Given the description of an element on the screen output the (x, y) to click on. 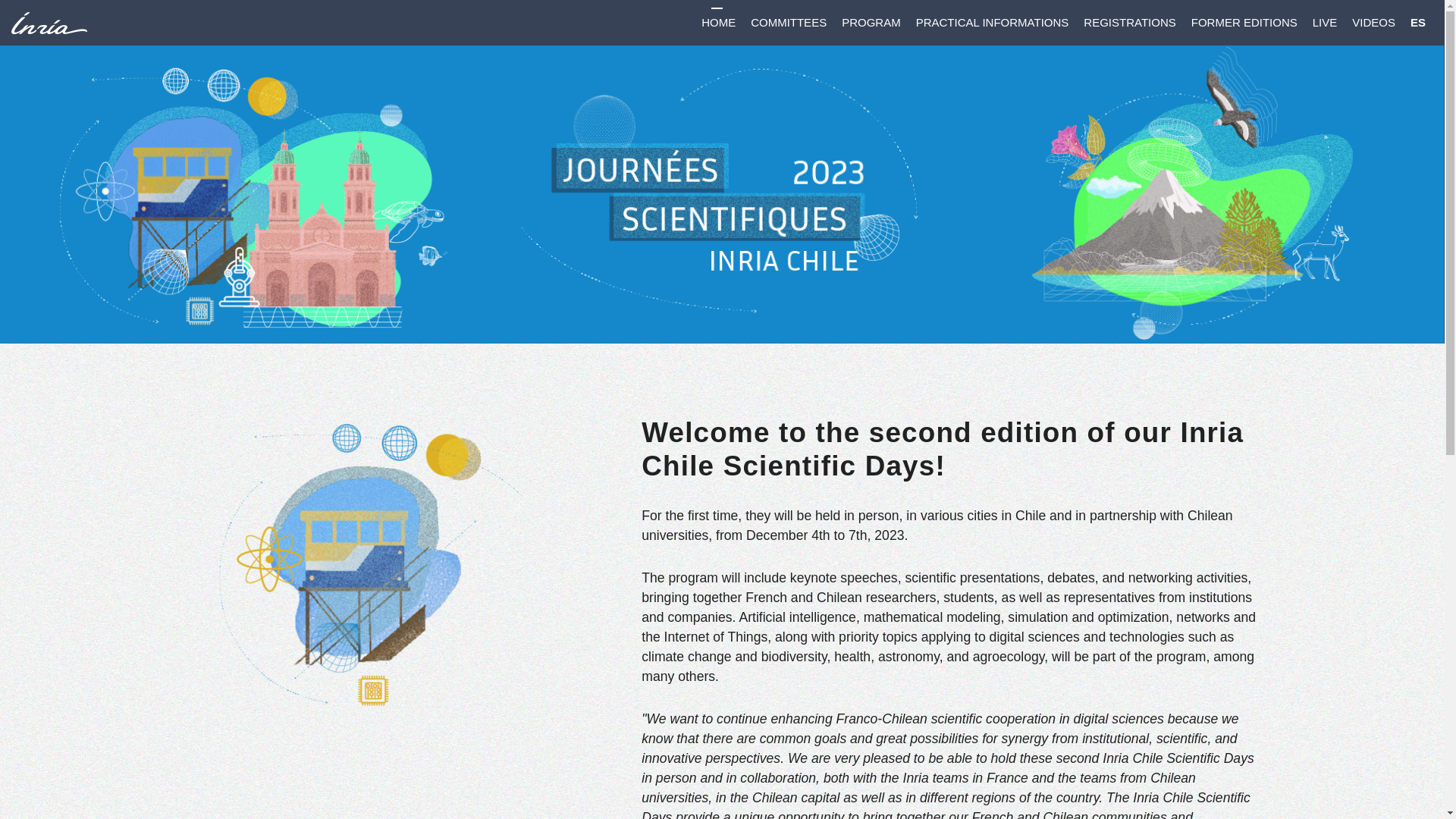
PROGRAM (871, 22)
HOME (718, 22)
REGISTRATIONS (1128, 22)
COMMITTEES (788, 22)
ES (1417, 22)
PRACTICAL INFORMATIONS (992, 22)
FORMER EDITIONS (1243, 22)
LIVE (1324, 22)
VIDEOS (1373, 22)
